Given the description of an element on the screen output the (x, y) to click on. 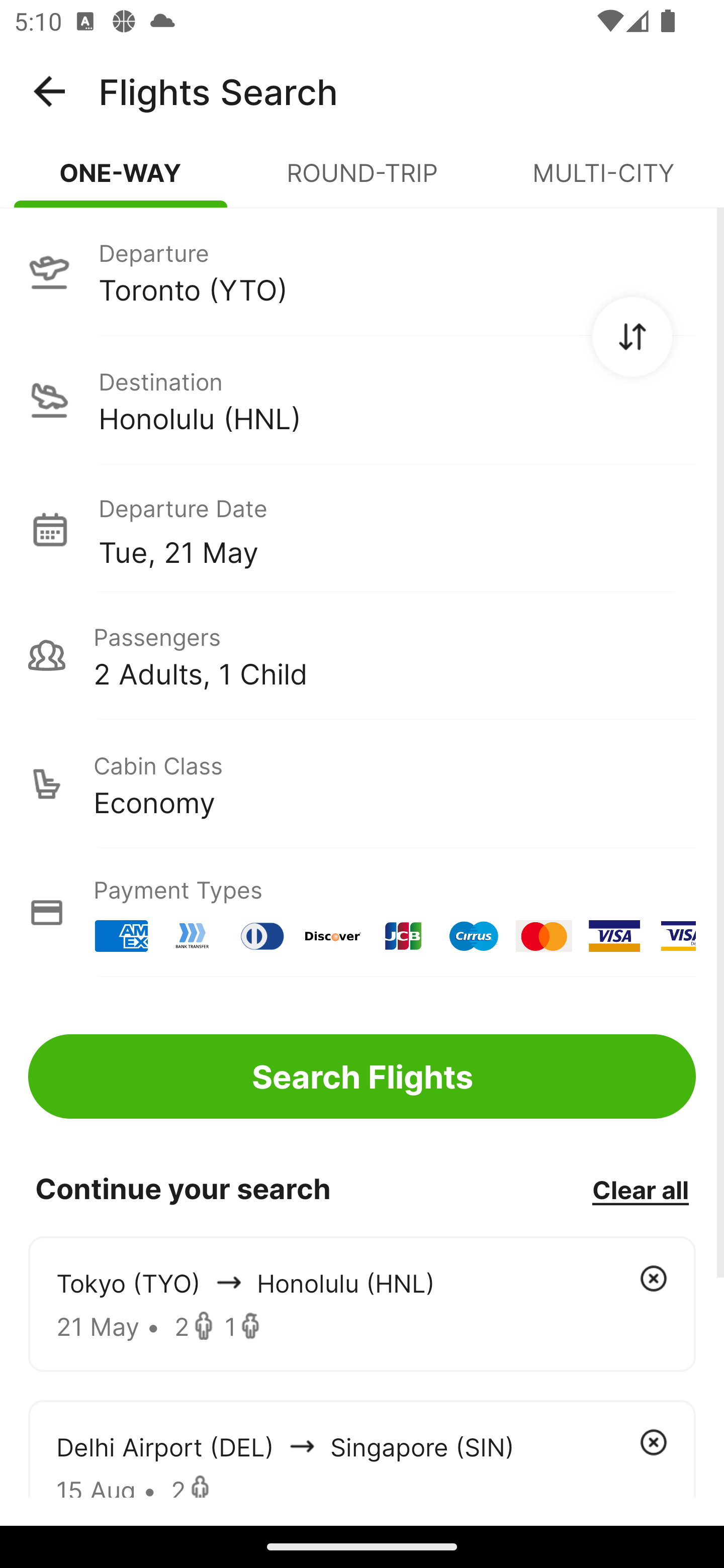
ONE-WAY (120, 180)
ROUND-TRIP (361, 180)
MULTI-CITY (603, 180)
Departure Toronto (YTO) (362, 270)
Destination Honolulu (HNL) (362, 400)
Departure Date Tue, 21 May (396, 528)
Passengers 2 Adults, 1 Child (362, 655)
Cabin Class Economy (362, 783)
Payment Types (362, 912)
Search Flights (361, 1075)
Clear all (640, 1189)
